Given the description of an element on the screen output the (x, y) to click on. 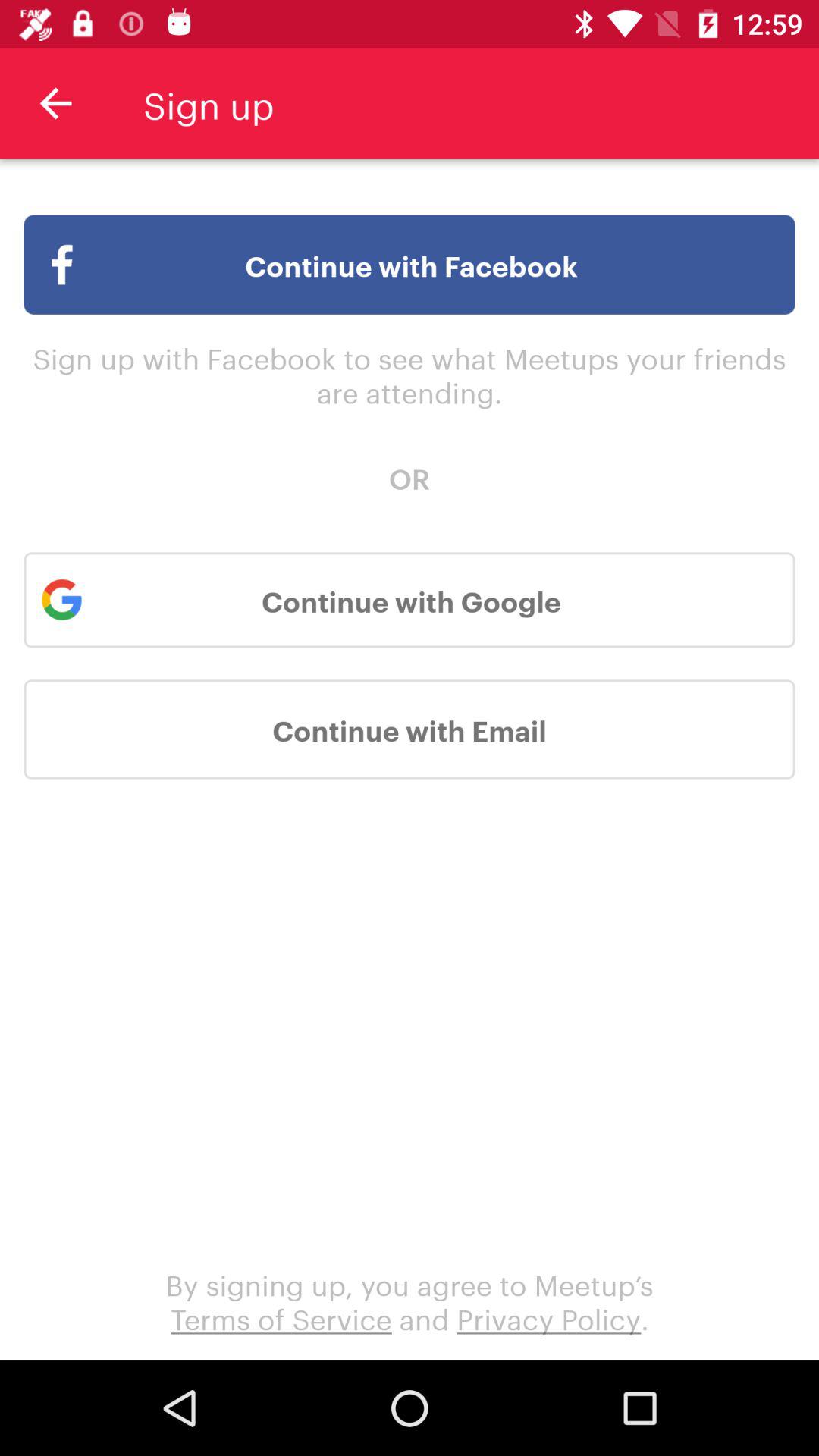
swipe until the by signing up (409, 1300)
